Given the description of an element on the screen output the (x, y) to click on. 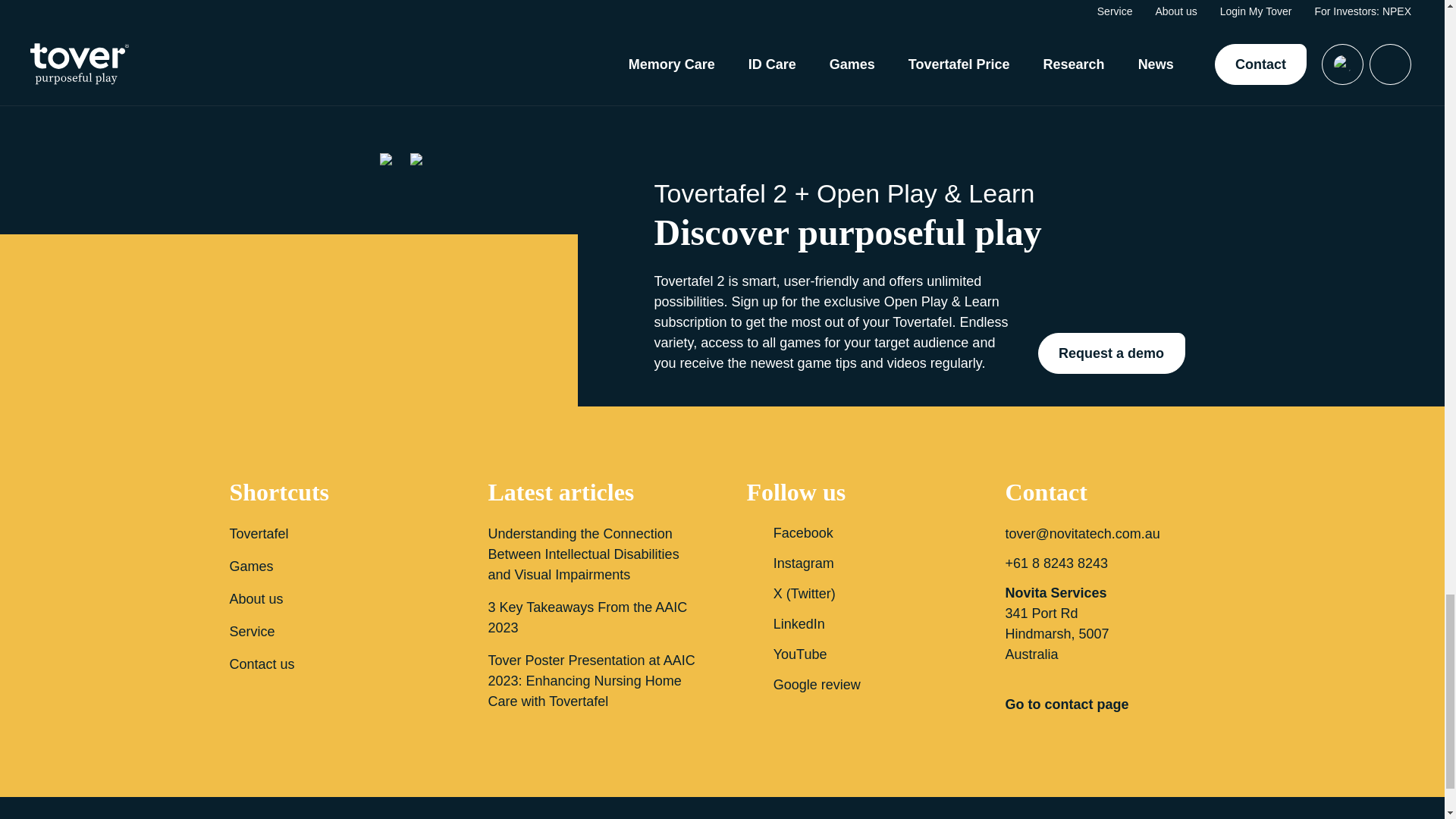
Xing (850, 684)
X (850, 593)
YouTube (850, 654)
Facebook (850, 533)
Instagram (850, 563)
LinkedIn (850, 624)
